Given the description of an element on the screen output the (x, y) to click on. 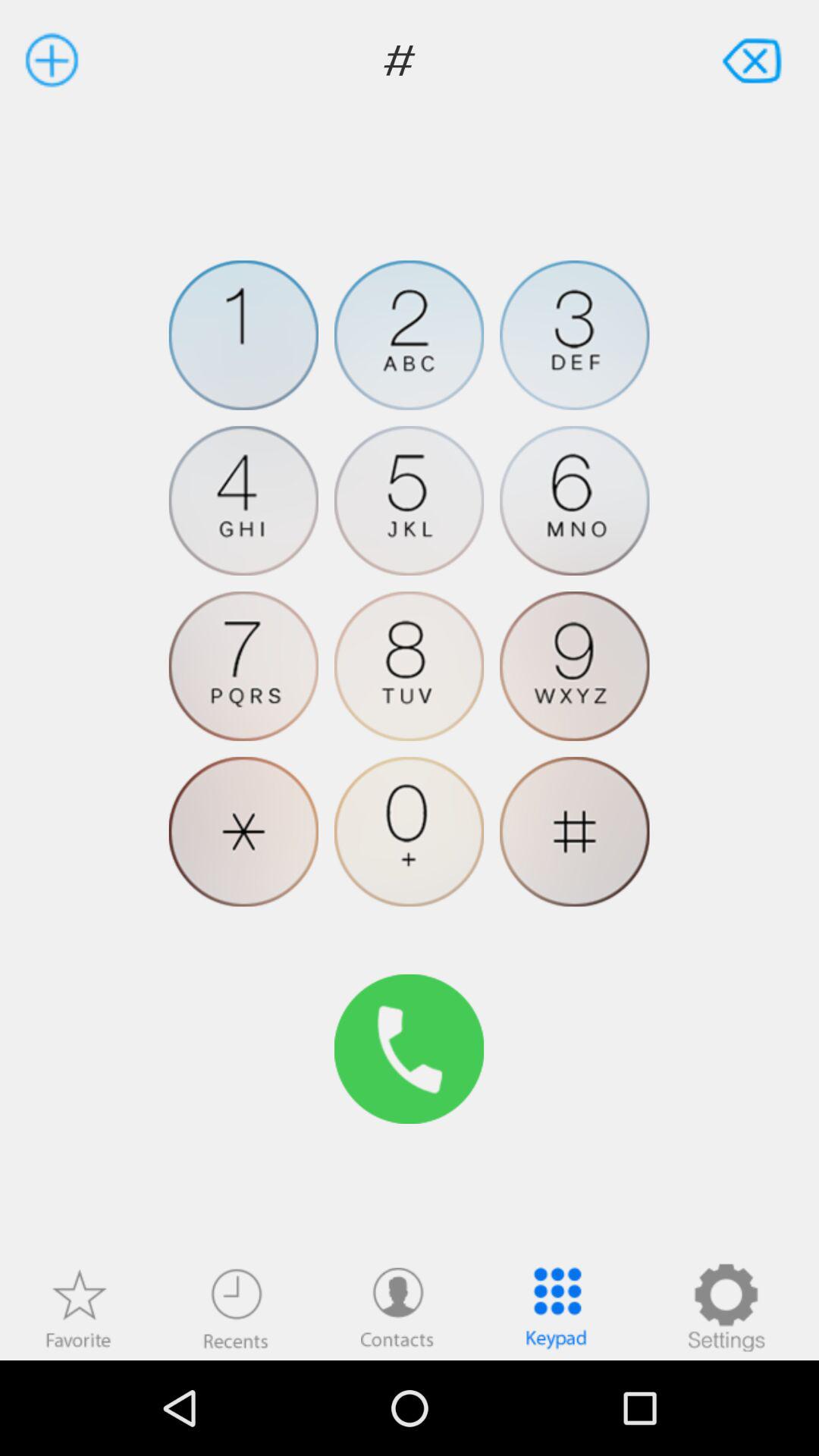
show favorites (78, 1307)
